Given the description of an element on the screen output the (x, y) to click on. 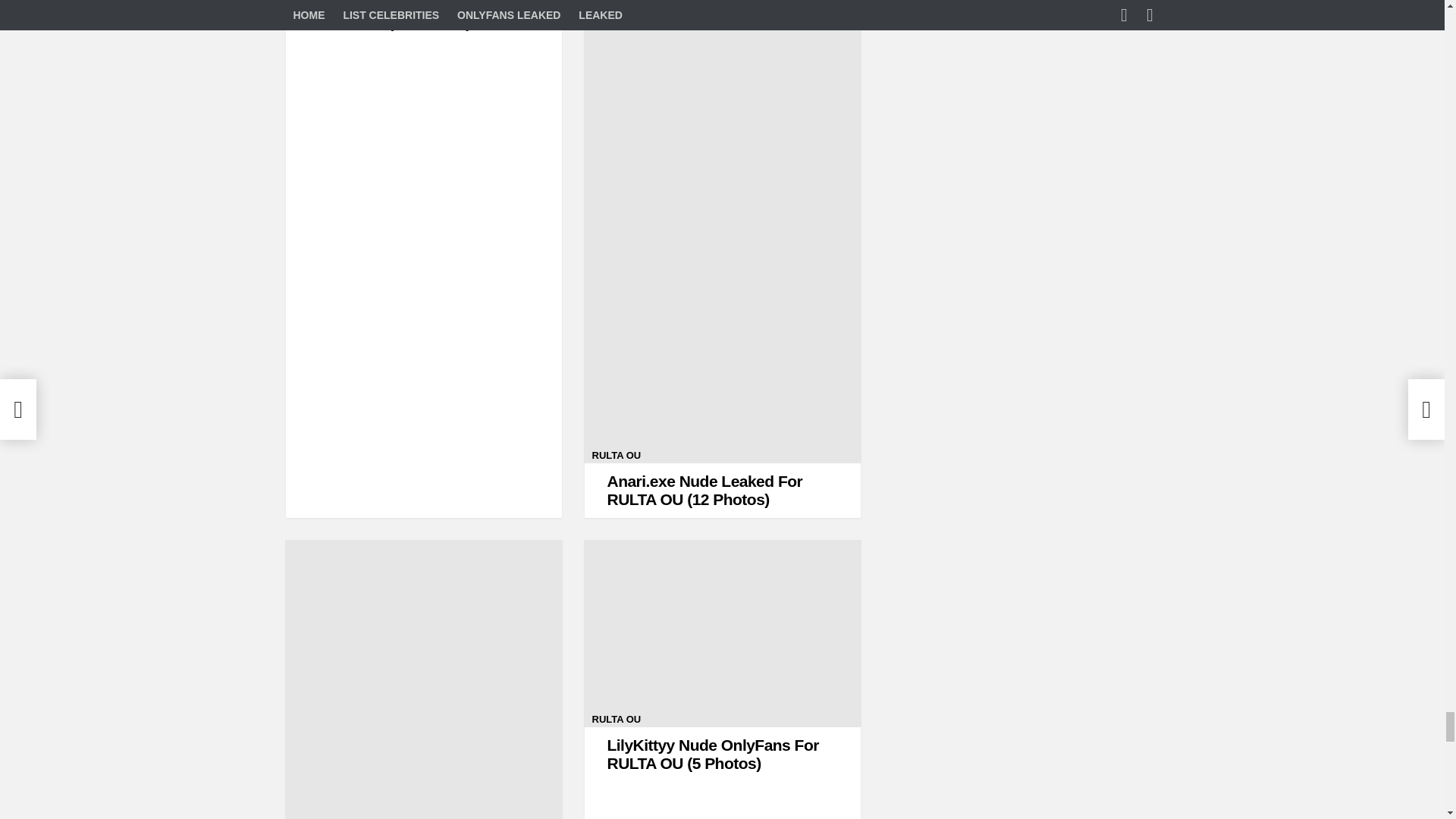
RULTA OU (615, 719)
RULTA OU (615, 455)
